Given the description of an element on the screen output the (x, y) to click on. 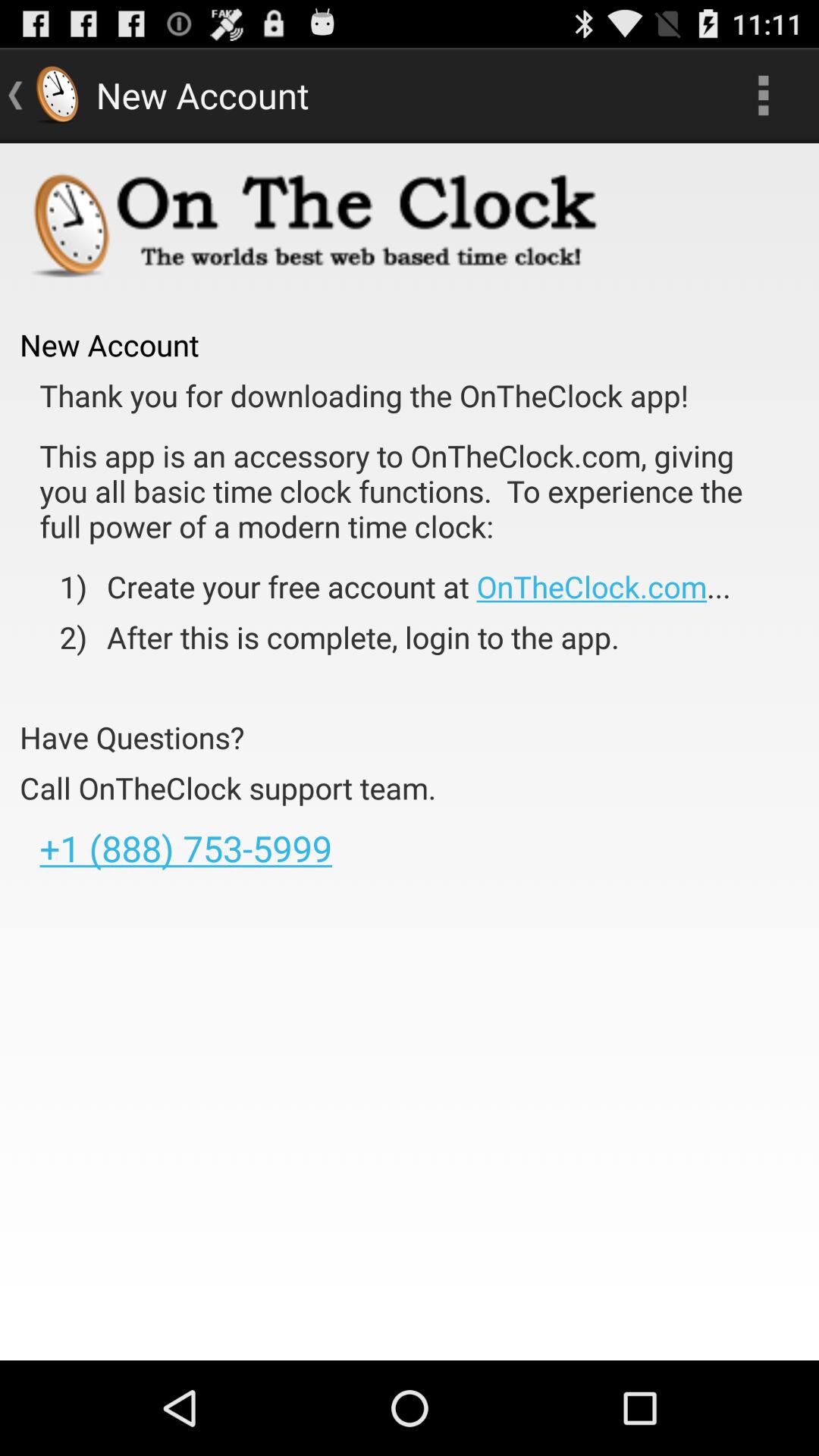
select icon at the top right corner (763, 95)
